Given the description of an element on the screen output the (x, y) to click on. 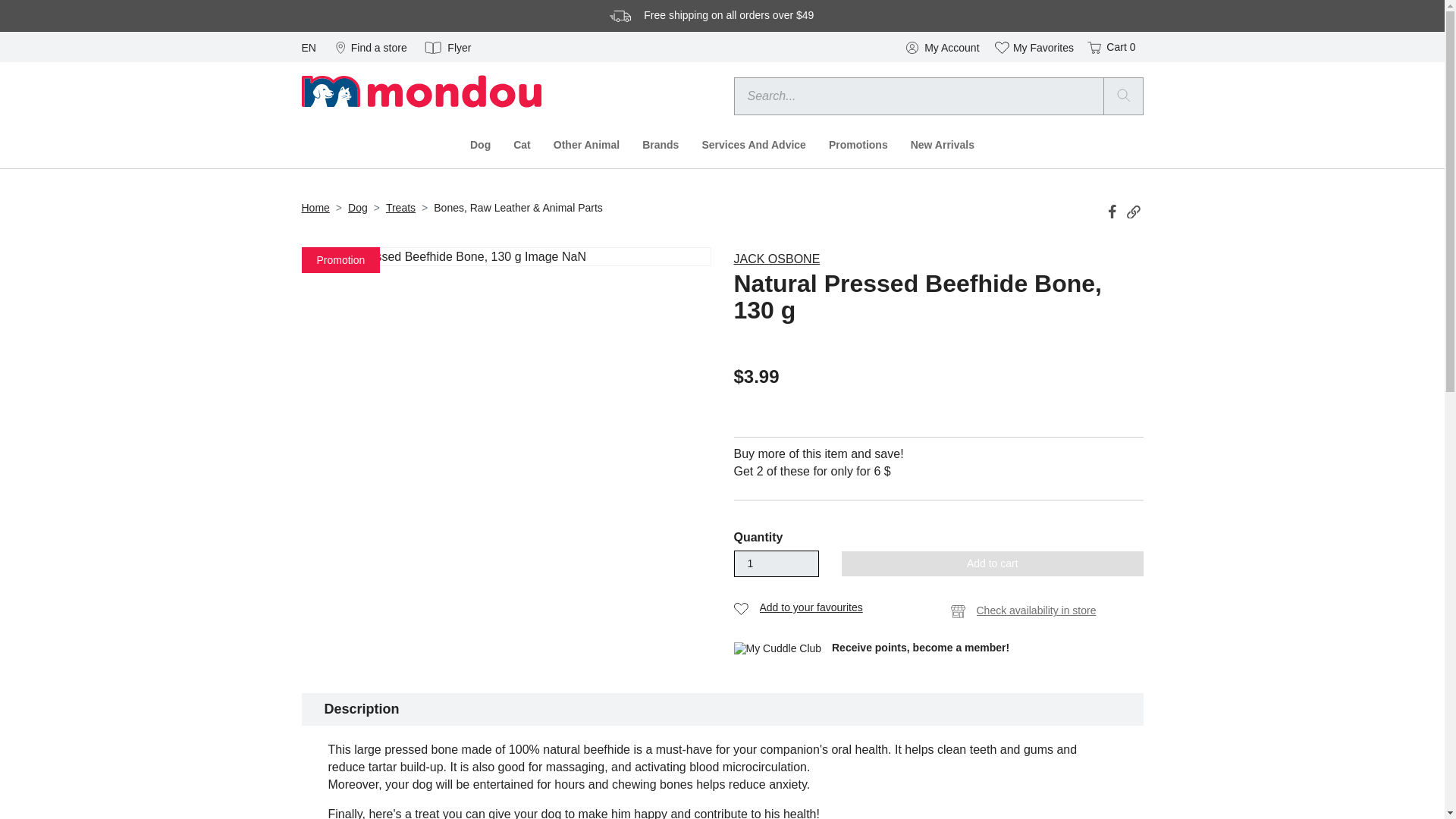
1 (776, 564)
Mondou Home (421, 90)
My Favorites (1034, 46)
Dog (480, 145)
Cart 0 items (1109, 46)
